Given the description of an element on the screen output the (x, y) to click on. 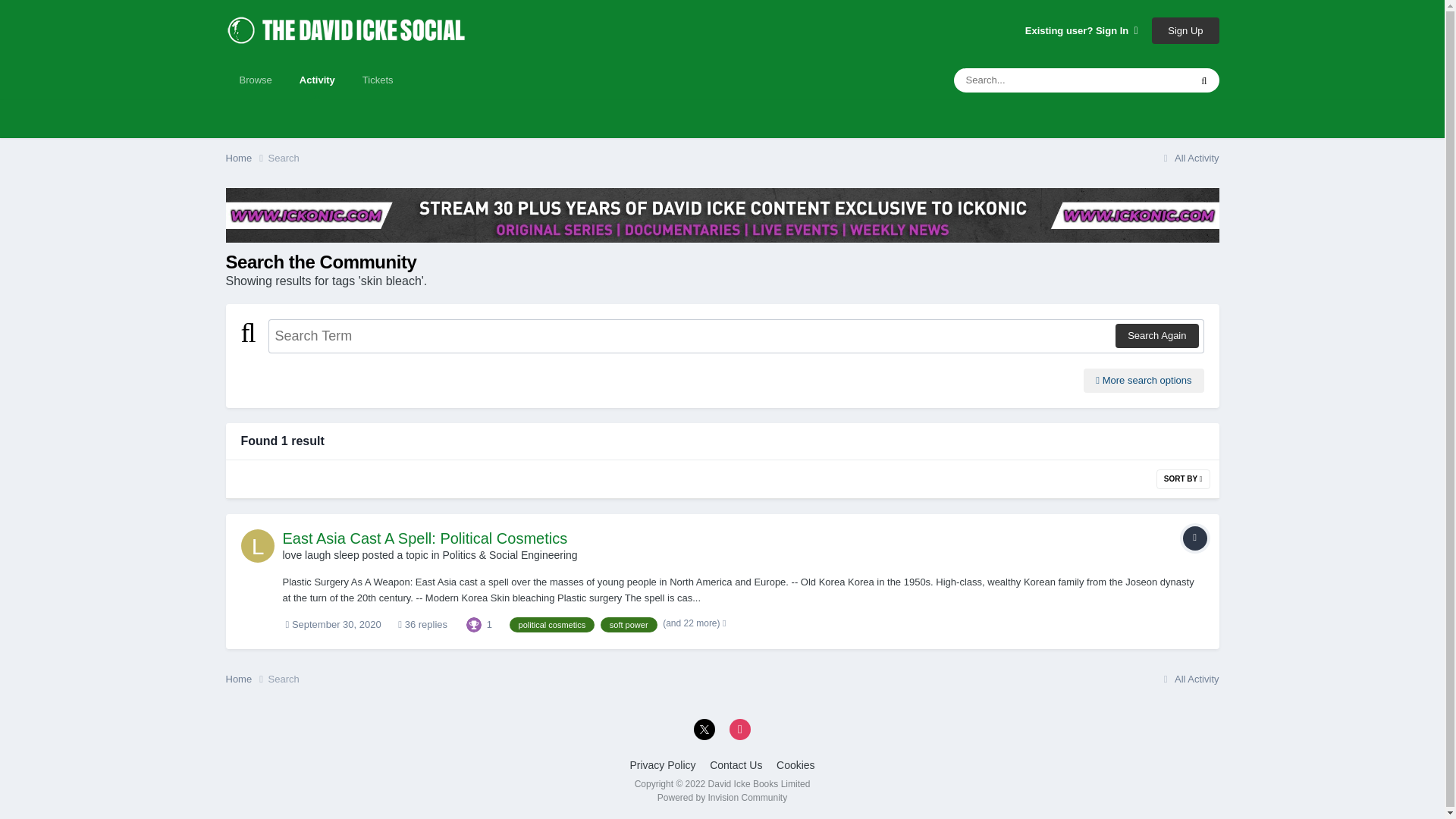
Activity (317, 79)
Search (283, 157)
All Activity (1188, 157)
Browse (255, 79)
Home (246, 158)
Home (246, 158)
Tickets (378, 79)
Go to love laugh sleep's profile (258, 545)
Existing user? Sign In   (1081, 30)
Find other content tagged with 'political cosmetics' (552, 624)
More search options (1143, 380)
Search Again (1156, 335)
Thanks (473, 624)
Go to love laugh sleep's profile (320, 554)
Find other content tagged with 'soft power' (628, 624)
